Given the description of an element on the screen output the (x, y) to click on. 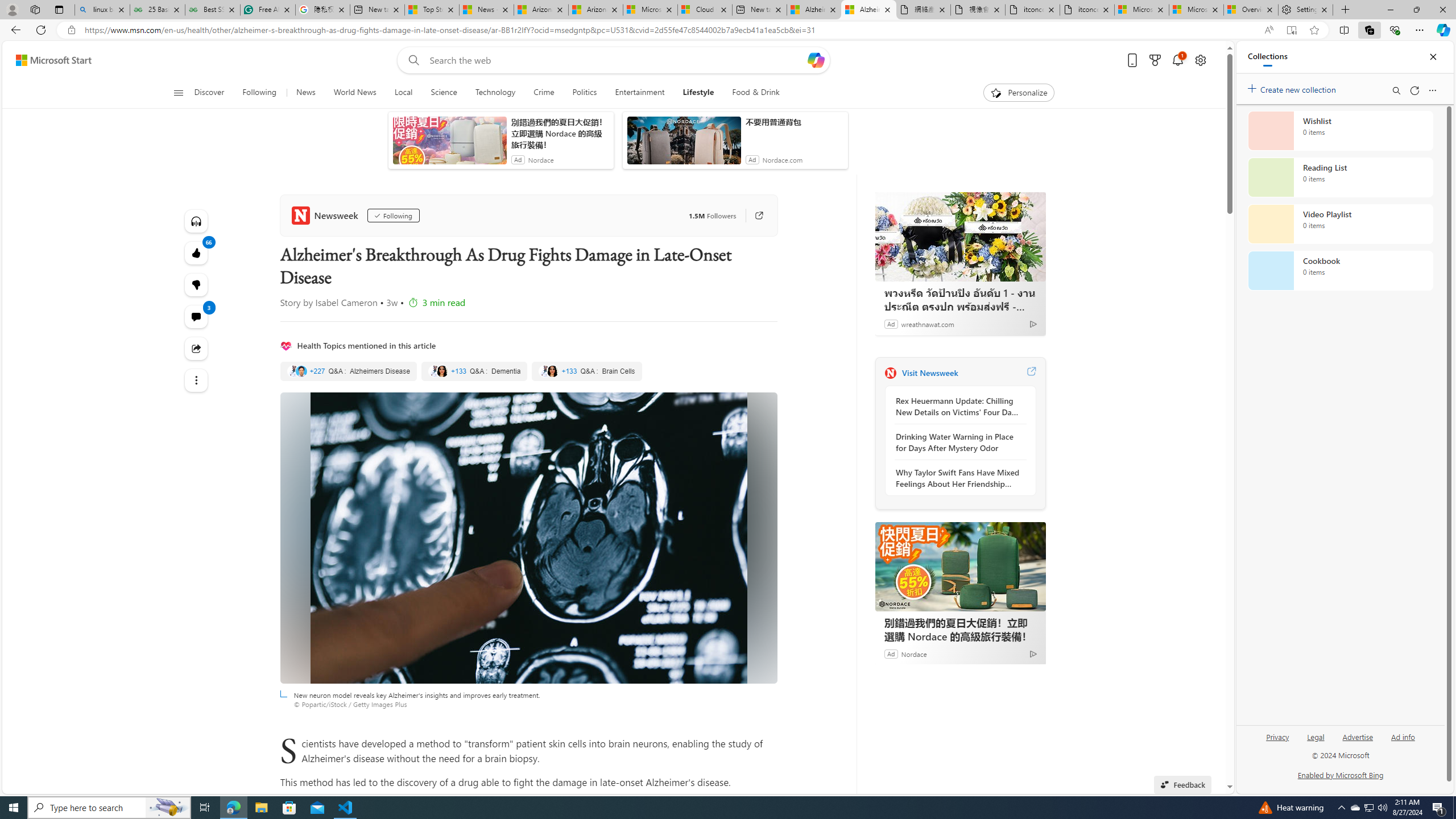
Listen to this article (196, 220)
25 Basic Linux Commands For Beginners - GeeksforGeeks (157, 9)
Go to publisher's site (752, 215)
